Given the description of an element on the screen output the (x, y) to click on. 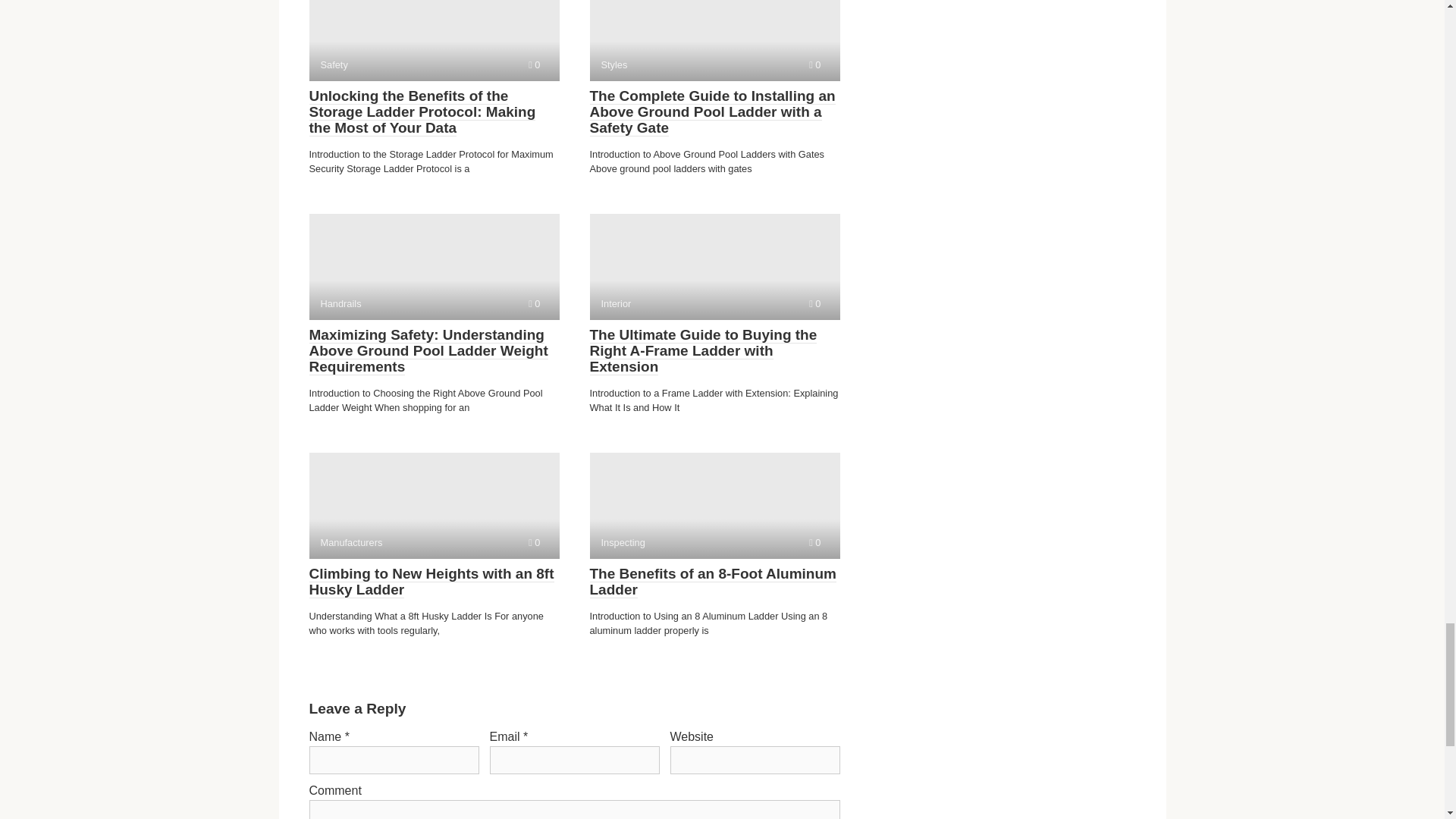
Comments (534, 64)
Comments (433, 266)
Comments (714, 266)
Climbing to New Heights with an 8ft Husky Ladder (433, 505)
Comments (534, 303)
Comments (815, 64)
